Given the description of an element on the screen output the (x, y) to click on. 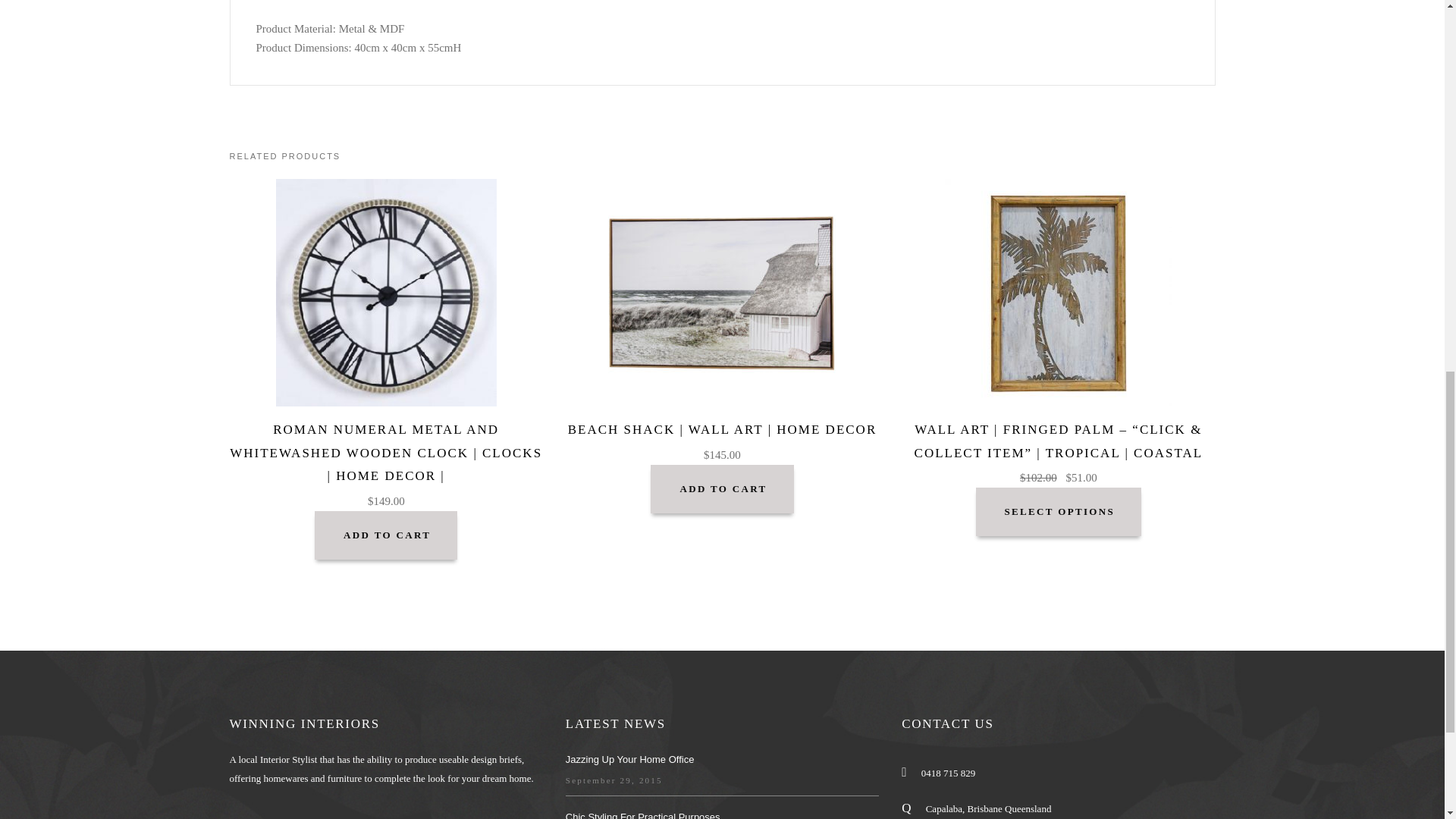
Chic Styling for practical purposes (643, 815)
Jazzing Up Your Home Office (630, 758)
